Given the description of an element on the screen output the (x, y) to click on. 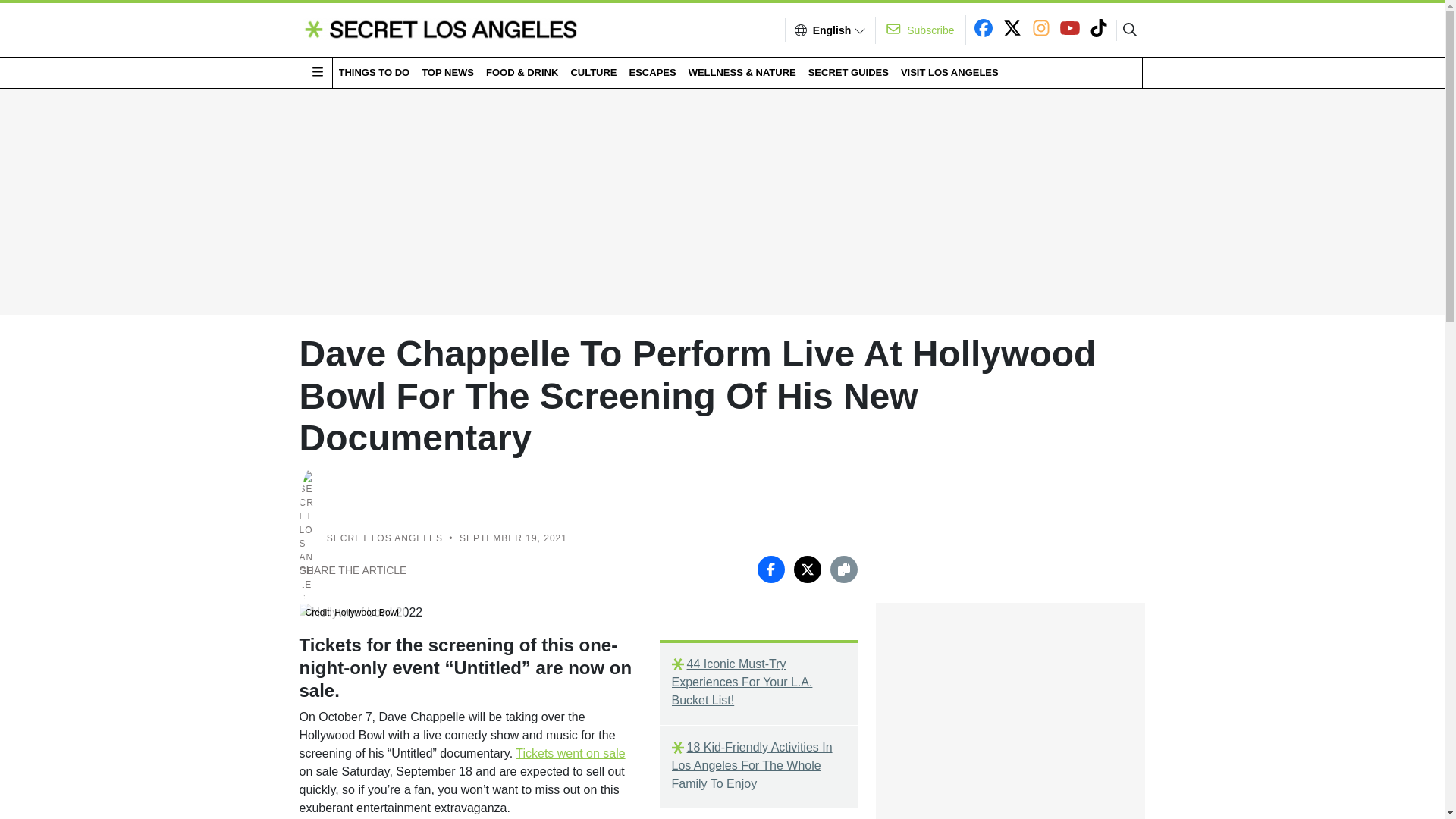
SECRET LOS ANGELES (384, 538)
ESCAPES (652, 72)
CULTURE (592, 72)
TOP NEWS (448, 72)
SECRET GUIDES (848, 72)
THINGS TO DO (373, 72)
English (831, 29)
Tickets went on sale (569, 753)
44 Iconic Must-Try Experiences For Your L.A. Bucket List! (758, 682)
VISIT LOS ANGELES (949, 72)
